Given the description of an element on the screen output the (x, y) to click on. 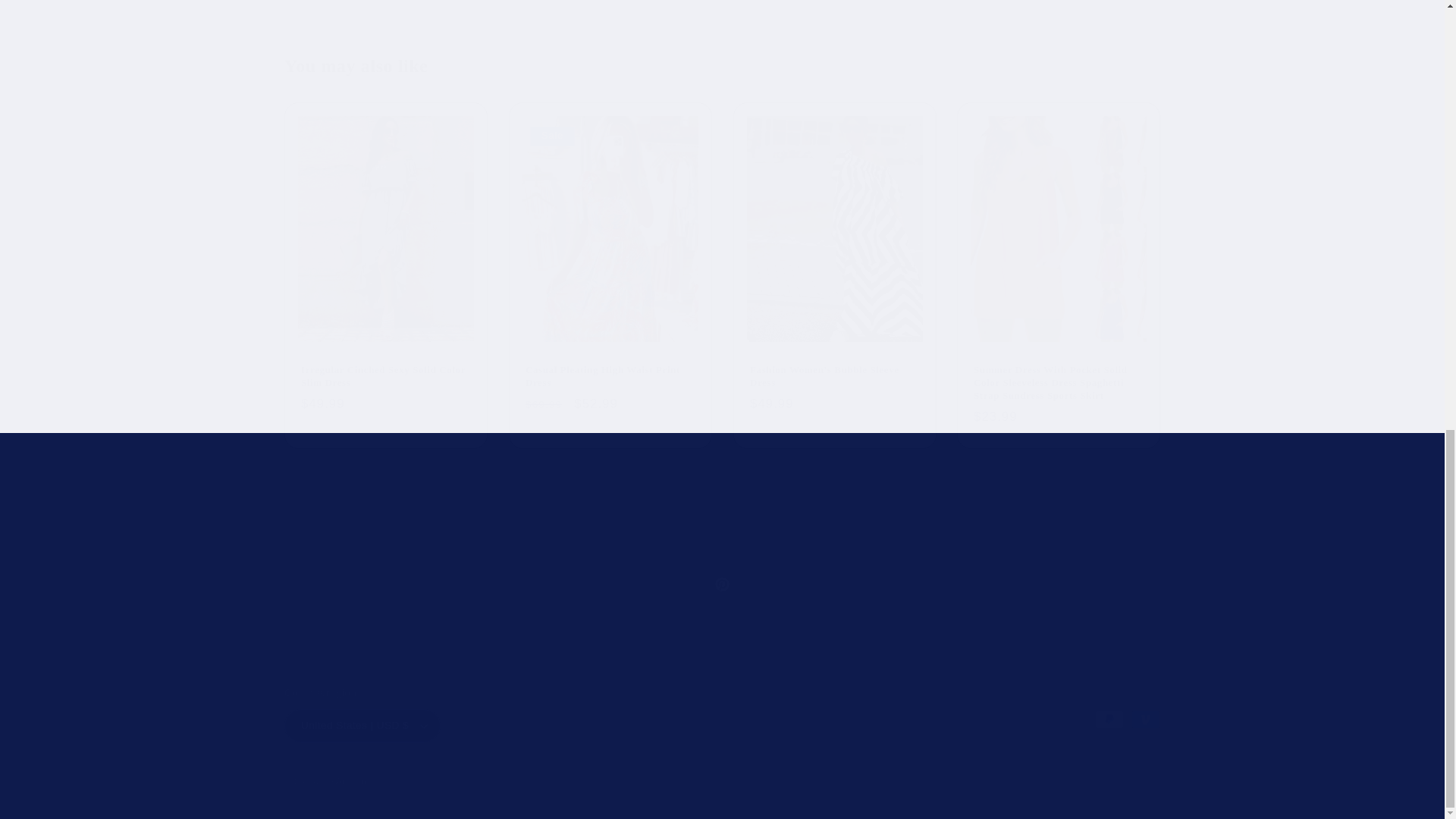
Pinterest (721, 584)
